Given the description of an element on the screen output the (x, y) to click on. 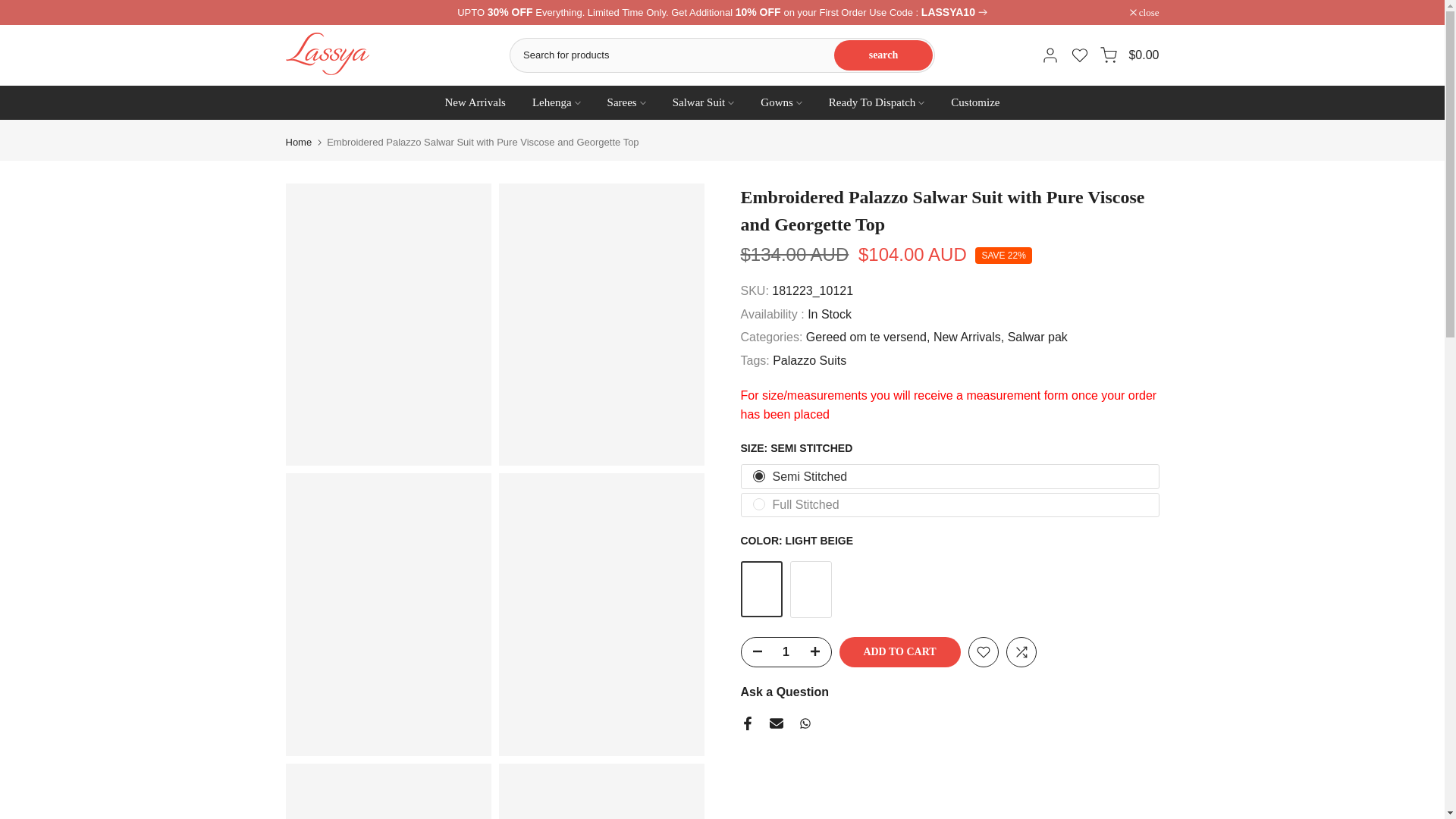
Salwar Suit (703, 102)
Sarees (626, 102)
Ready To Dispatch (876, 102)
Gereed om te versend (868, 337)
Share on WhatsApp (803, 723)
Skip to content (10, 7)
ADD TO CART (898, 652)
Palazzo Suits (809, 361)
New Arrivals (474, 102)
Home (298, 142)
Customize (975, 102)
Gowns (781, 102)
Salwar pak (1037, 337)
Share on Email (775, 723)
close (1143, 12)
